Given the description of an element on the screen output the (x, y) to click on. 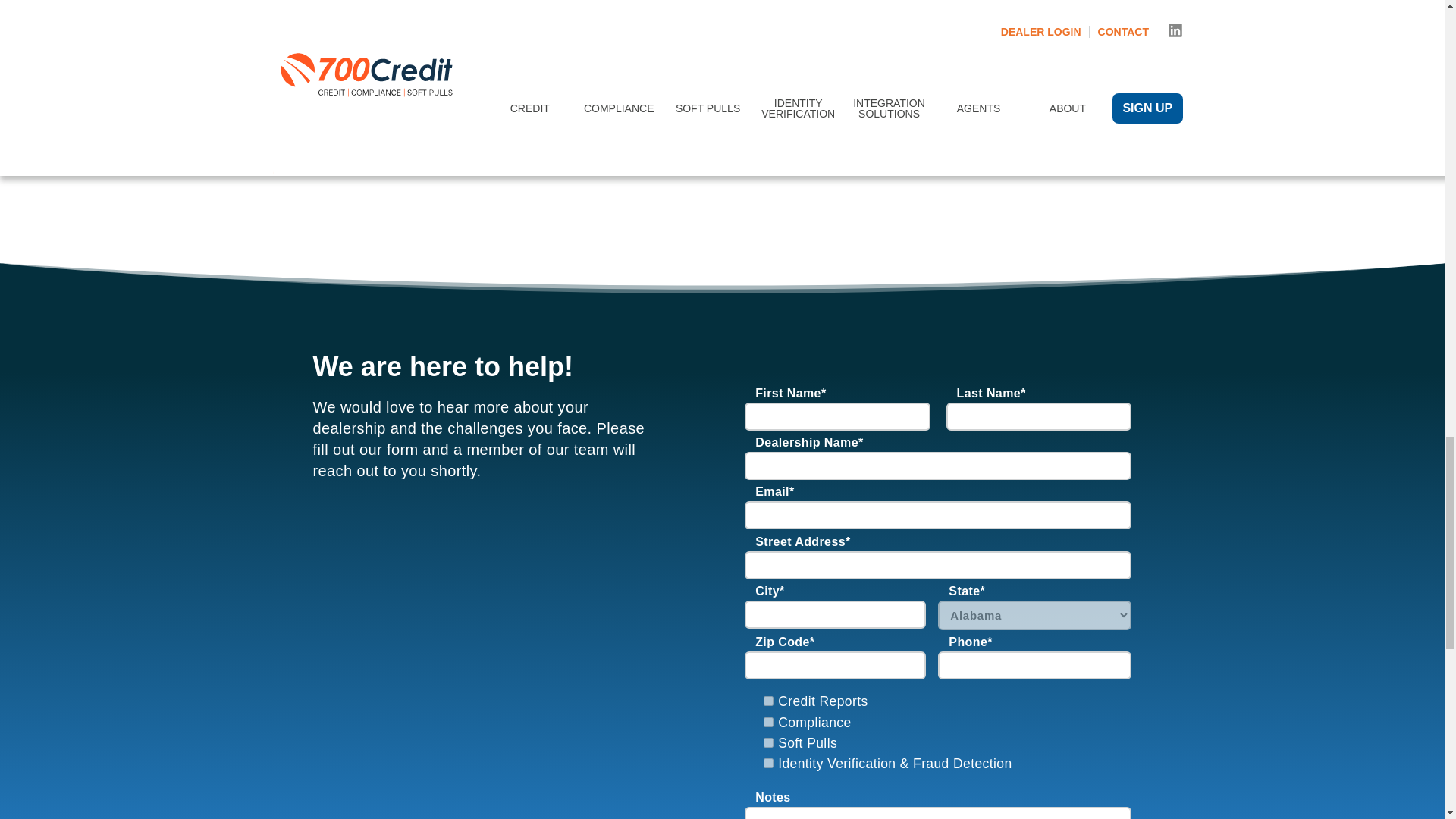
Compliance (767, 722)
Soft Pulls (767, 742)
Credit Reports (767, 700)
